Given the description of an element on the screen output the (x, y) to click on. 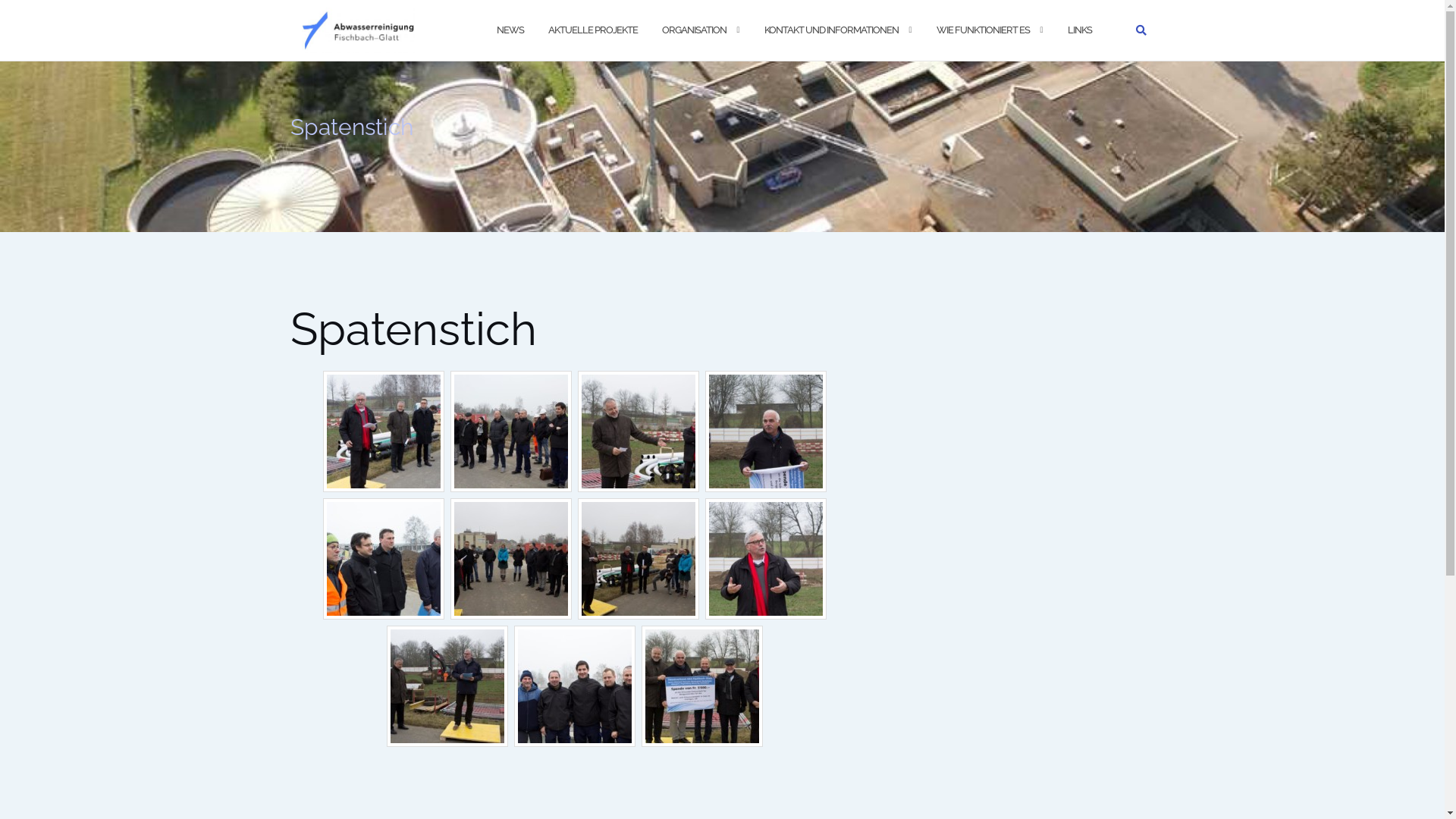
NEWS Element type: text (509, 30)
WIE FUNKTIONIERT ES Element type: text (982, 30)
KONTAKT UND INFORMATIONEN Element type: text (831, 30)
LINKS Element type: text (1079, 30)
ORGANISATION Element type: text (693, 30)
AKTUELLE PROJEKTE Element type: text (592, 30)
